Given the description of an element on the screen output the (x, y) to click on. 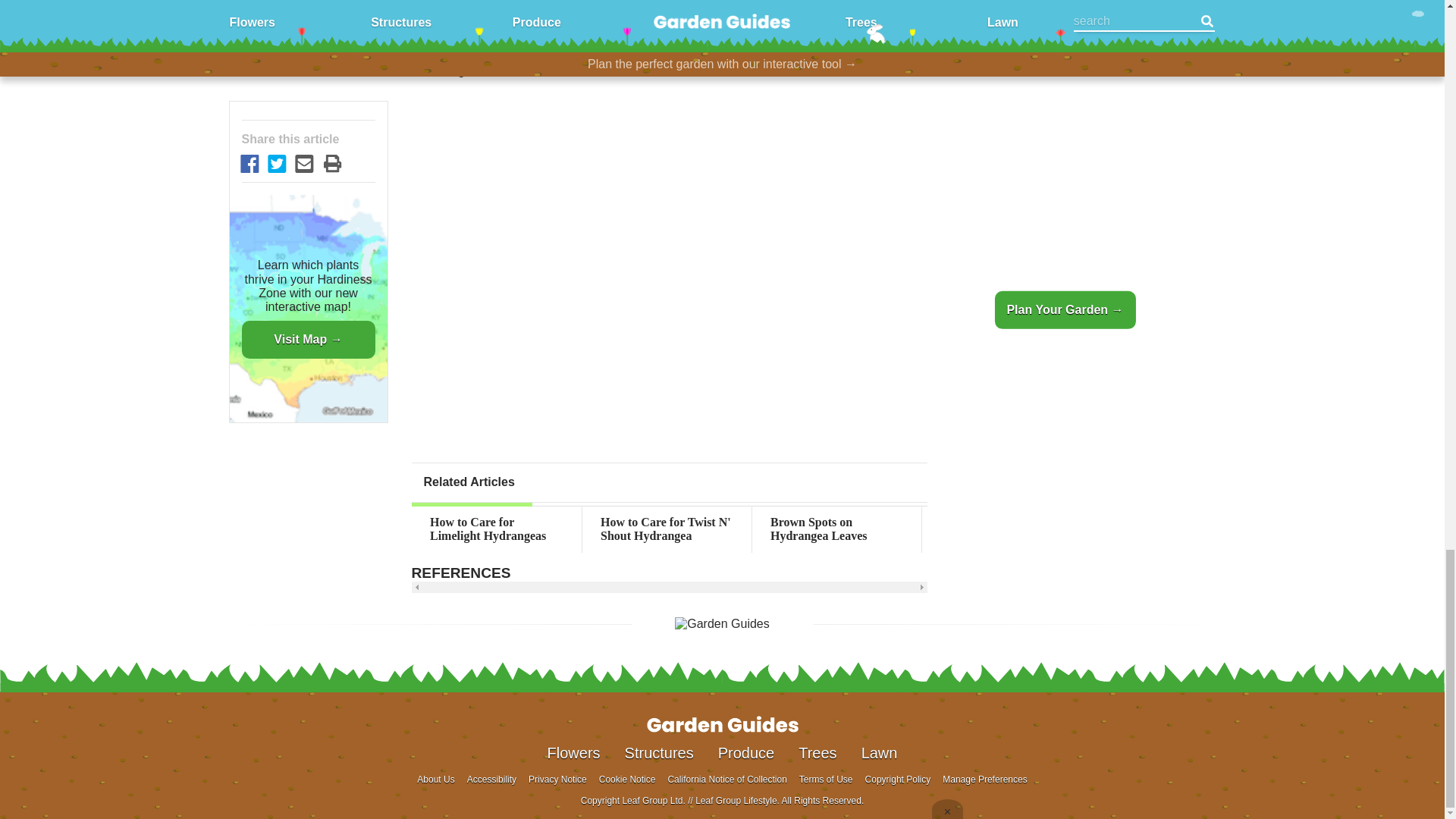
How to Care for Twist N' Shout Hydrangea (666, 529)
Flowers (573, 752)
pH for Hydrangea Colors (1176, 529)
How to Cut Back a Ficus Tree (1346, 529)
How to Prune a PJM Rhododendron (1005, 529)
Brown Spots on Hydrangea Leaves (836, 529)
How to Care for Limelight Hydrangeas (495, 529)
